Given the description of an element on the screen output the (x, y) to click on. 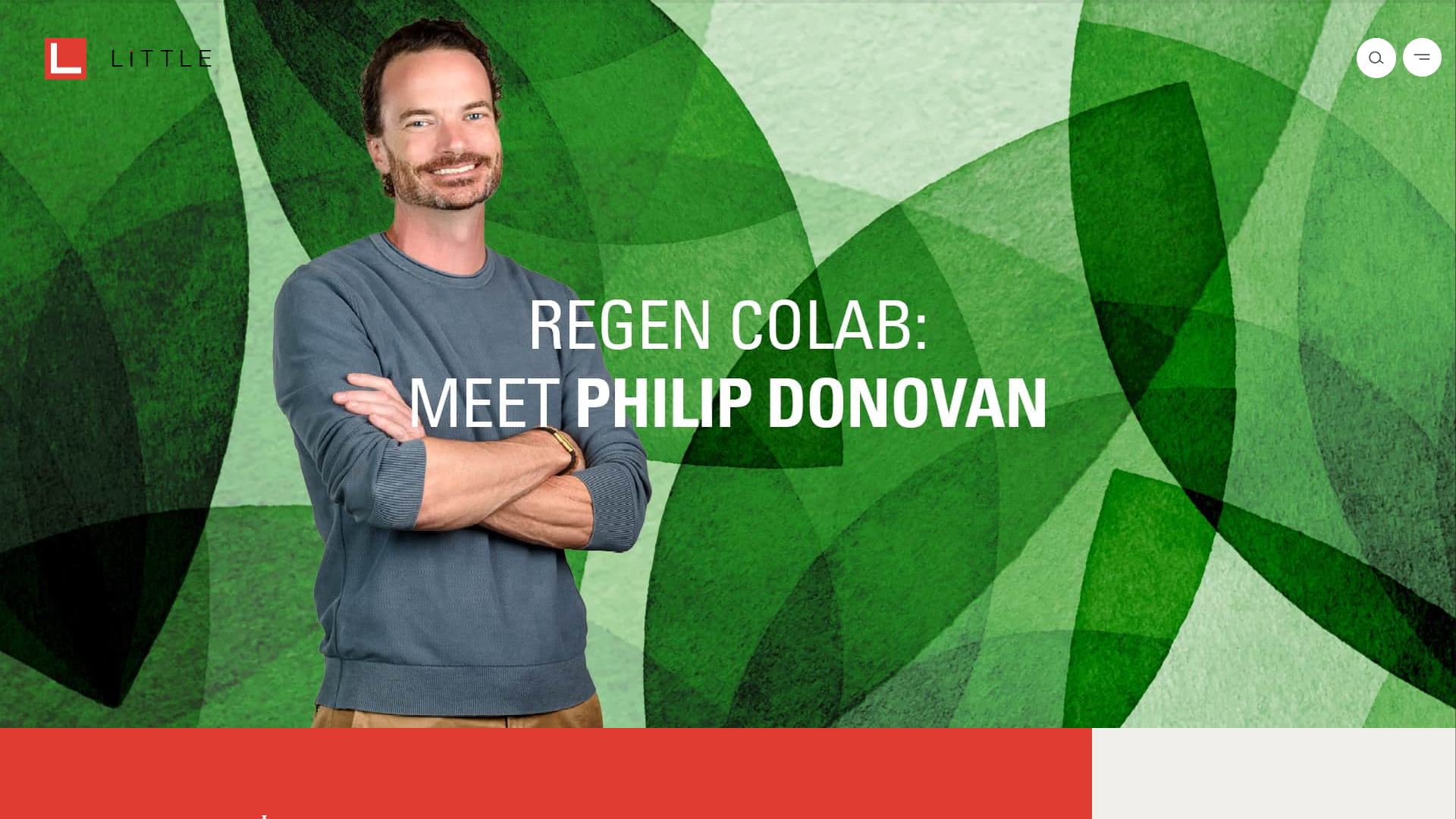
Linkedin (369, 141)
Linkedin (334, 141)
Linkedin (334, 141)
